Given the description of an element on the screen output the (x, y) to click on. 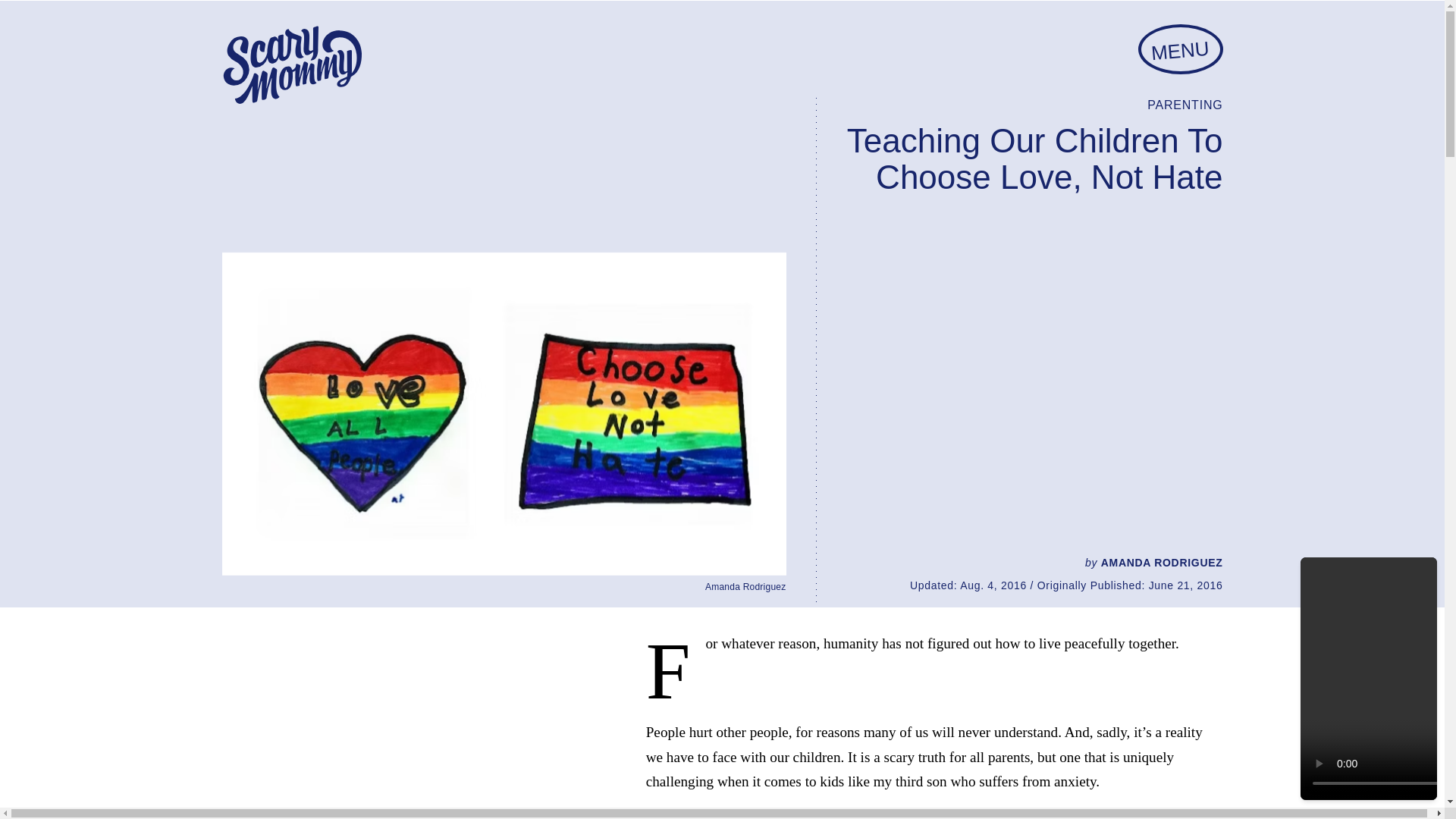
Scary Mommy (291, 64)
